Given the description of an element on the screen output the (x, y) to click on. 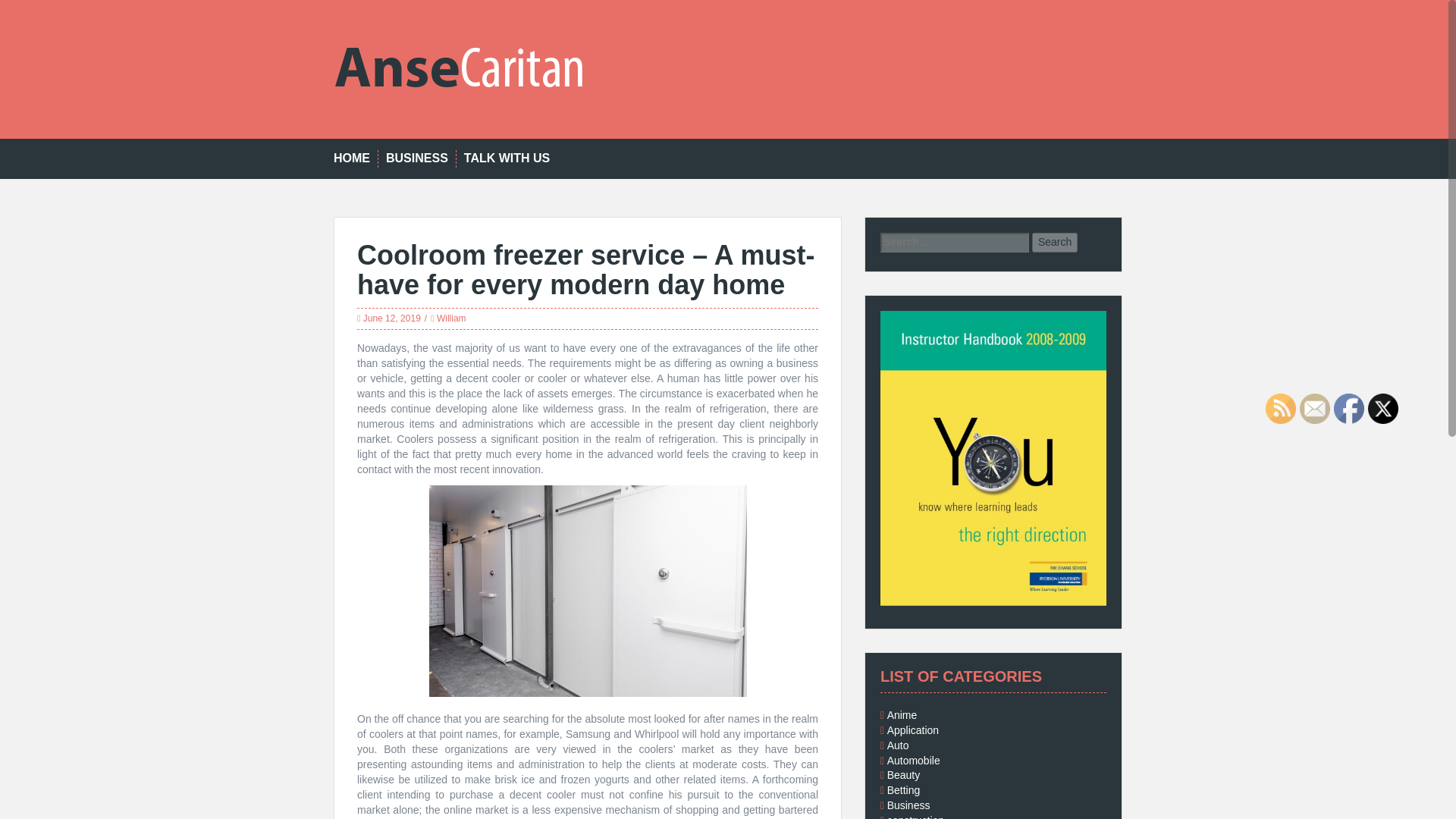
construction (914, 816)
June 12, 2019 (391, 317)
Search (1054, 242)
HOME (351, 158)
Auto (897, 745)
Twitter (1382, 408)
Follow by Email (1315, 408)
Search (1054, 242)
BUSINESS (416, 158)
Search (1054, 242)
